Given the description of an element on the screen output the (x, y) to click on. 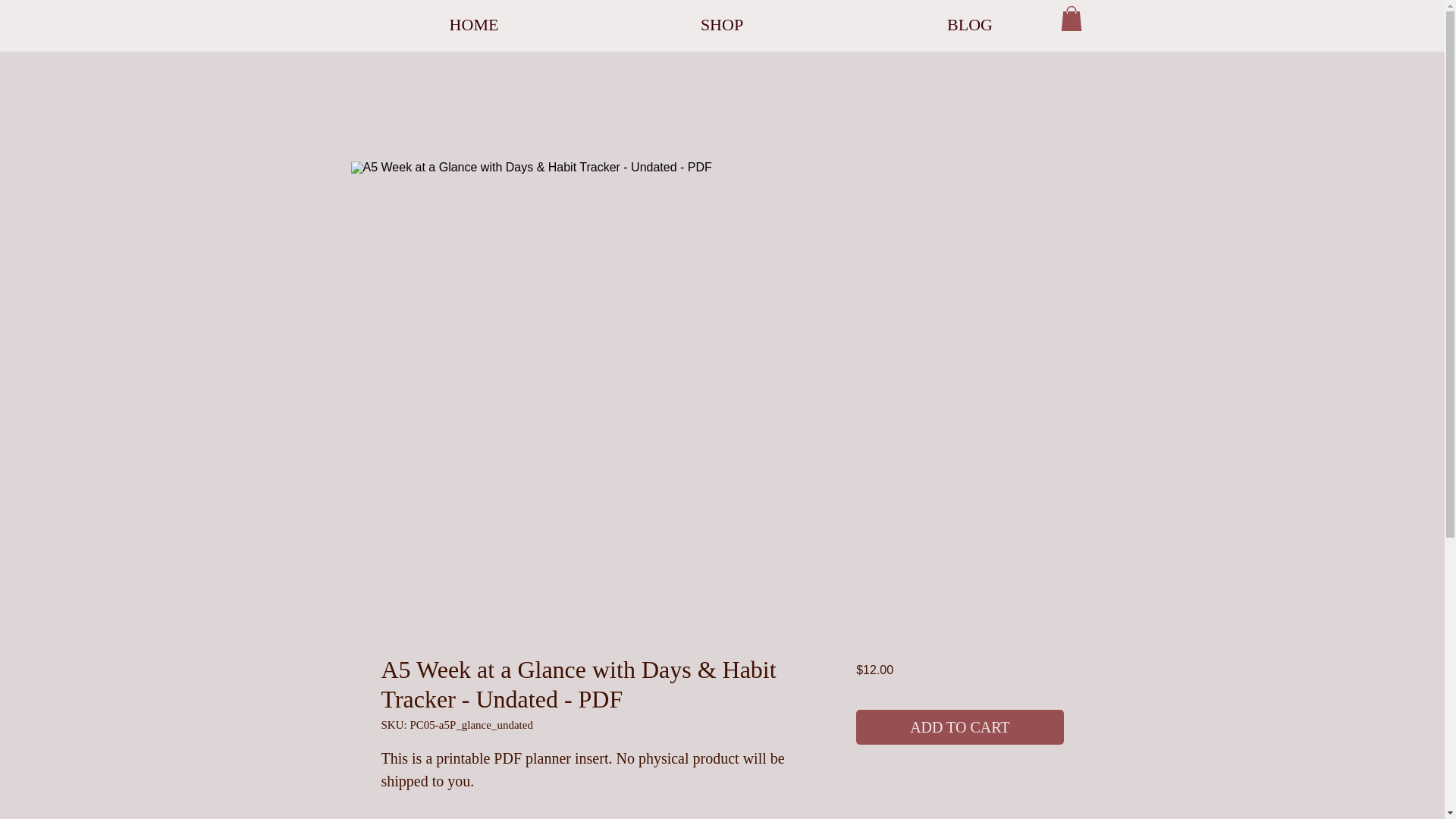
BLOG (969, 24)
HOME (474, 24)
ADD TO CART (959, 727)
SHOP (720, 24)
